Given the description of an element on the screen output the (x, y) to click on. 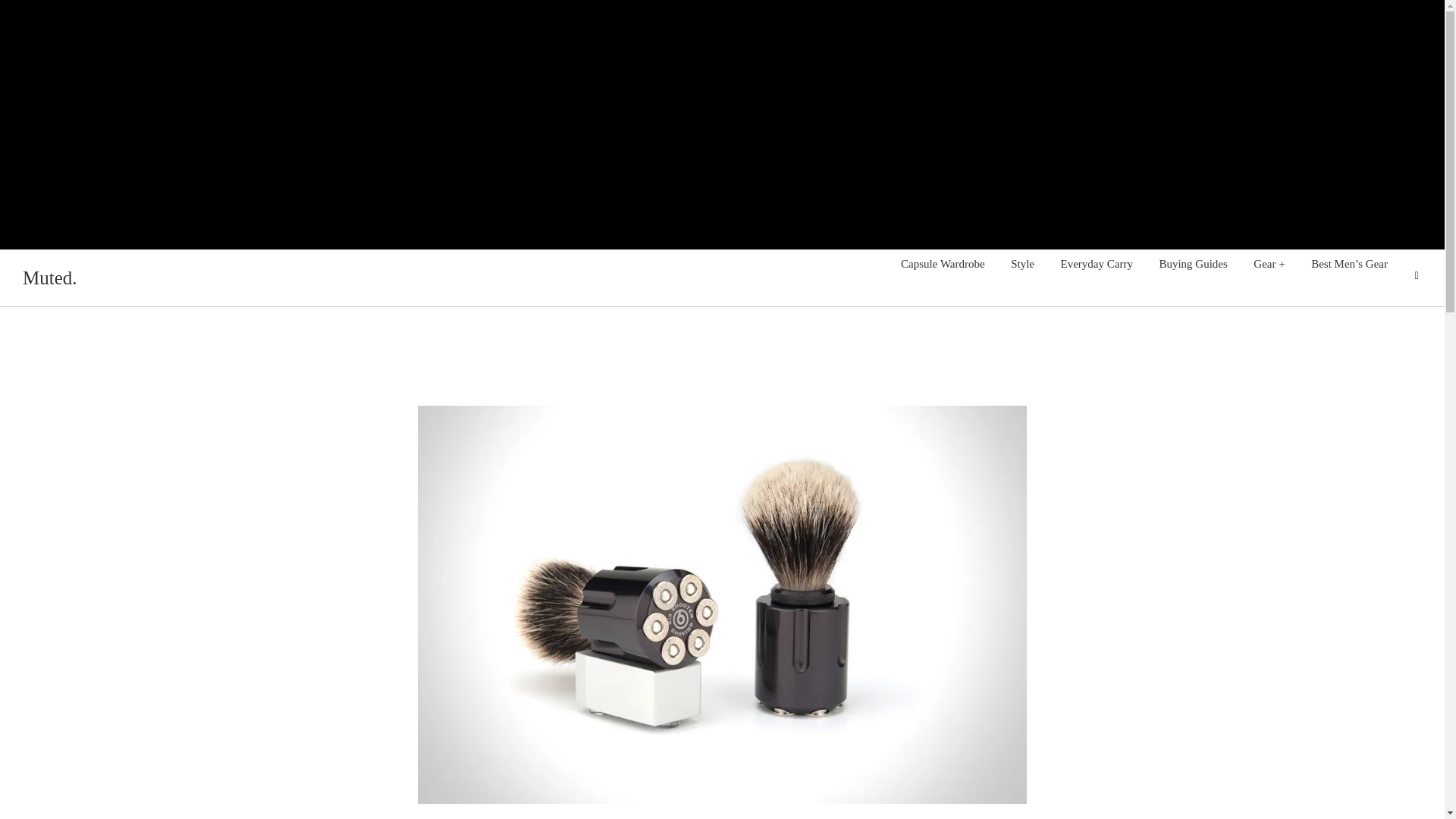
Buying Guides (1193, 264)
Capsule Wardrobe (942, 264)
Muted. (50, 277)
Everyday Carry (1096, 264)
Style (1021, 264)
